Given the description of an element on the screen output the (x, y) to click on. 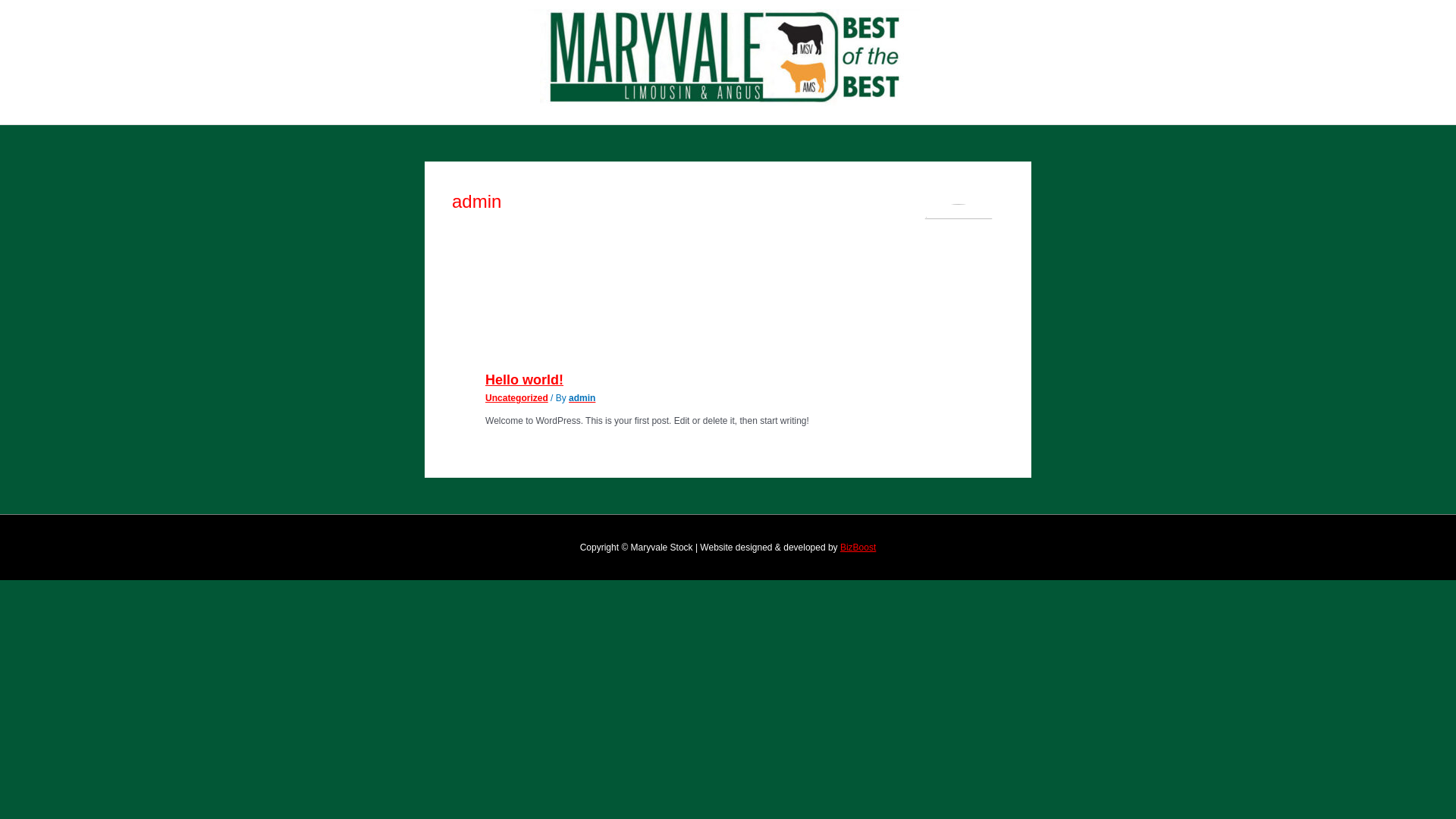
admin Element type: text (581, 397)
Uncategorized Element type: text (516, 397)
BizBoost Element type: text (857, 547)
Hello world! Element type: text (524, 379)
